Given the description of an element on the screen output the (x, y) to click on. 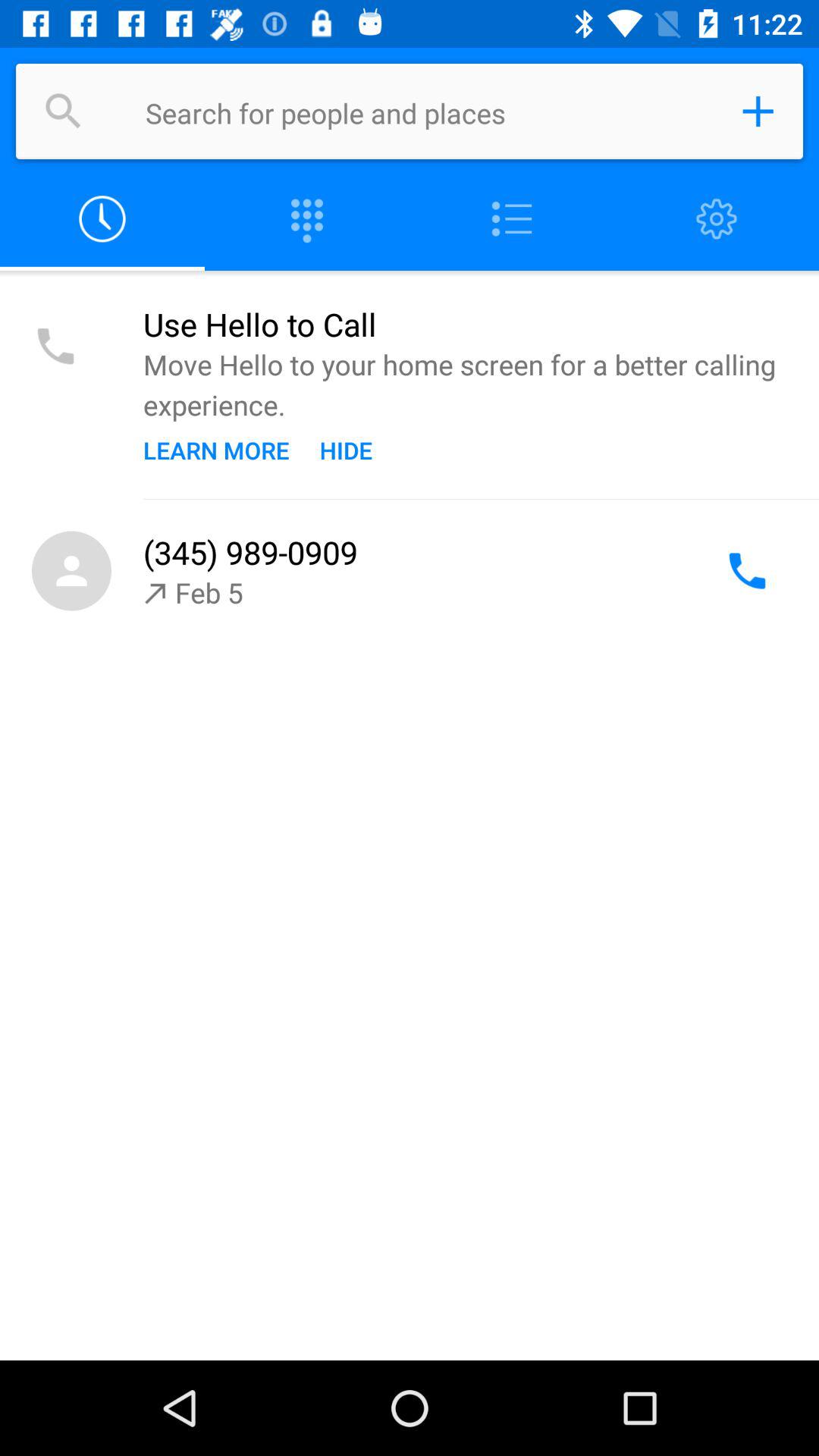
scroll until the hide (345, 449)
